Given the description of an element on the screen output the (x, y) to click on. 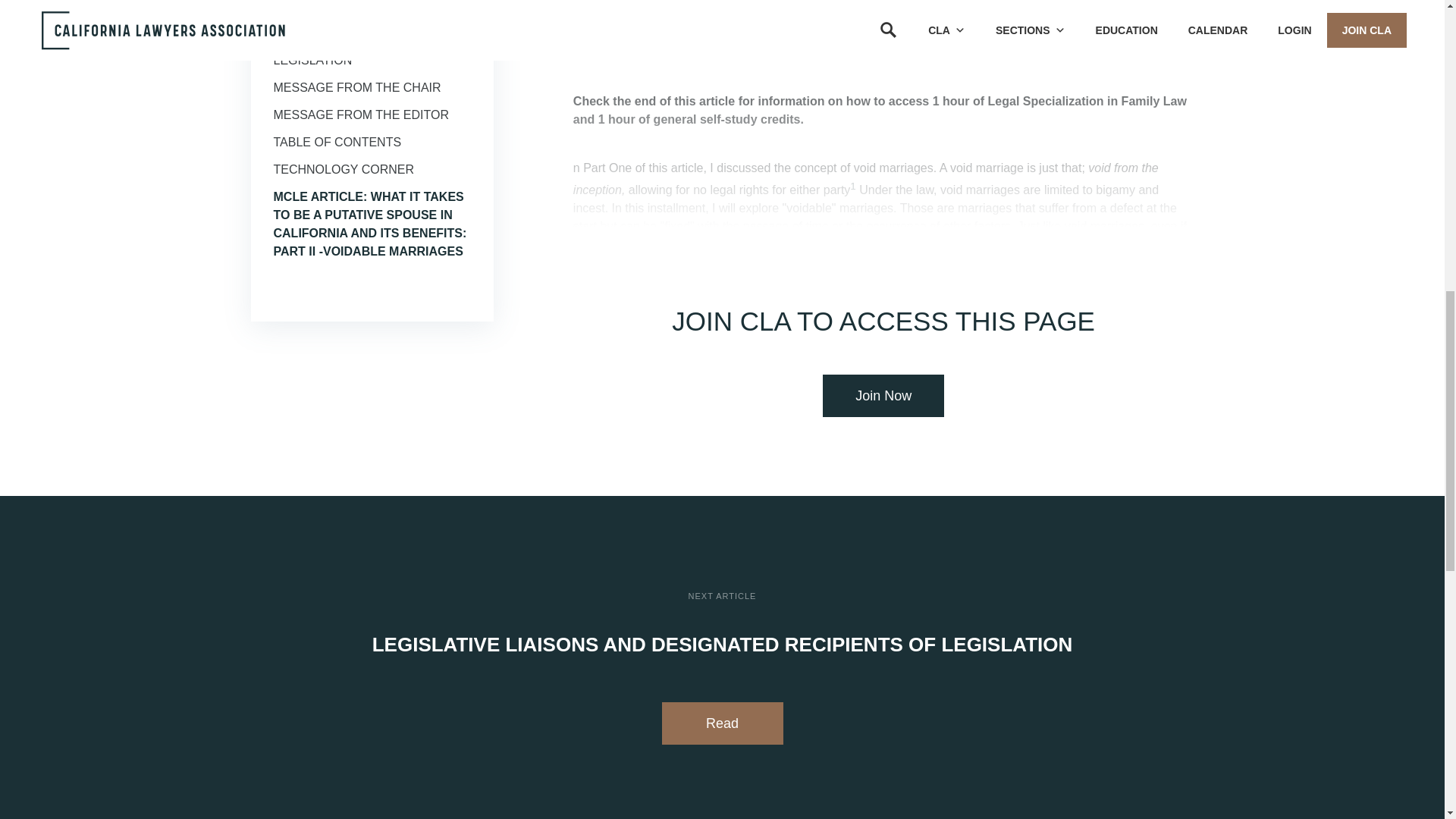
Technology Corner (343, 169)
Message from the Chair (357, 87)
Join Now (882, 395)
Message from the Editor (360, 114)
Table of Contents (337, 141)
Family Law Section Executive Committee (345, 1)
